Given the description of an element on the screen output the (x, y) to click on. 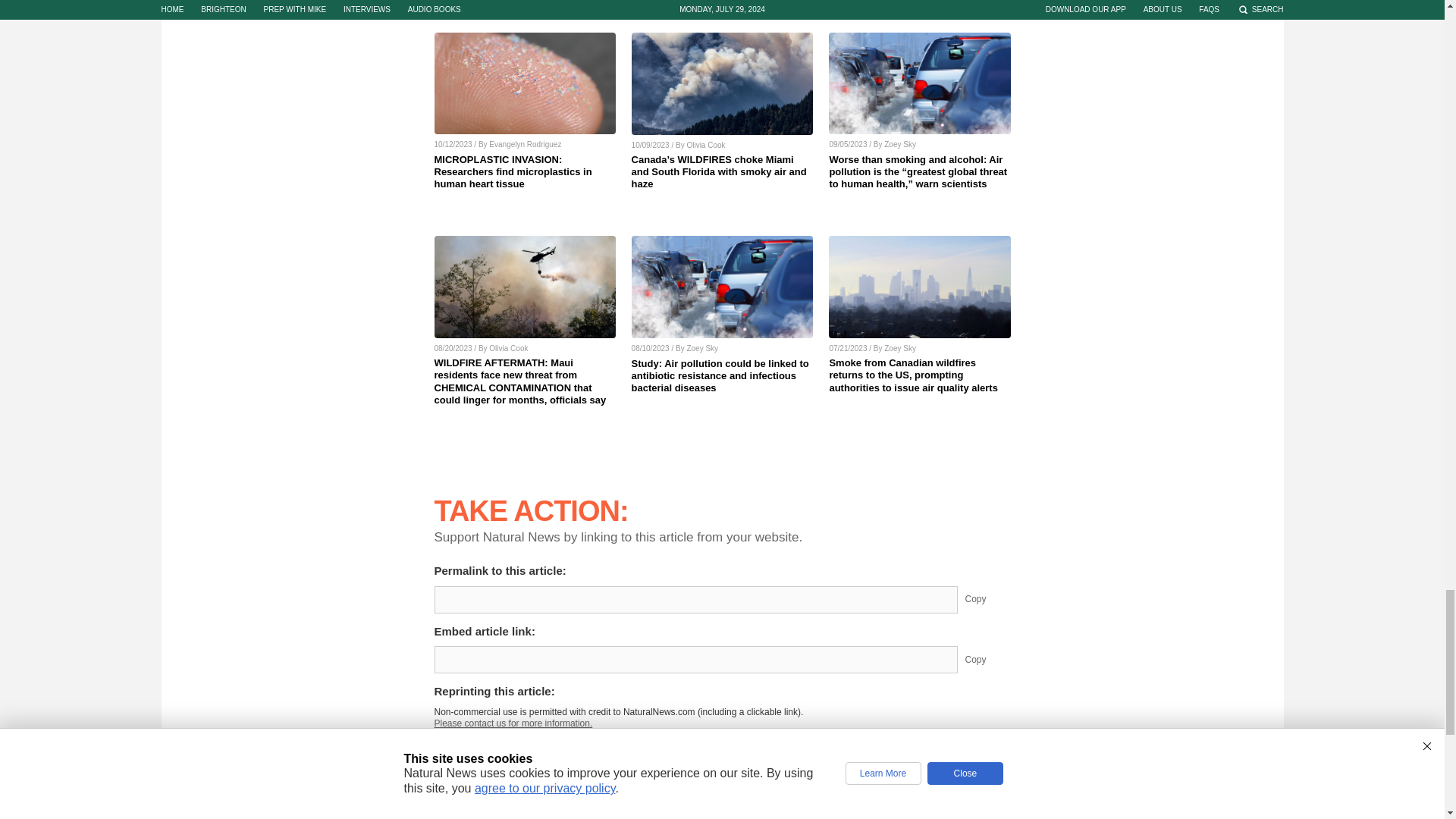
Copy Embed Link (986, 659)
Copy Permalink (986, 599)
